Given the description of an element on the screen output the (x, y) to click on. 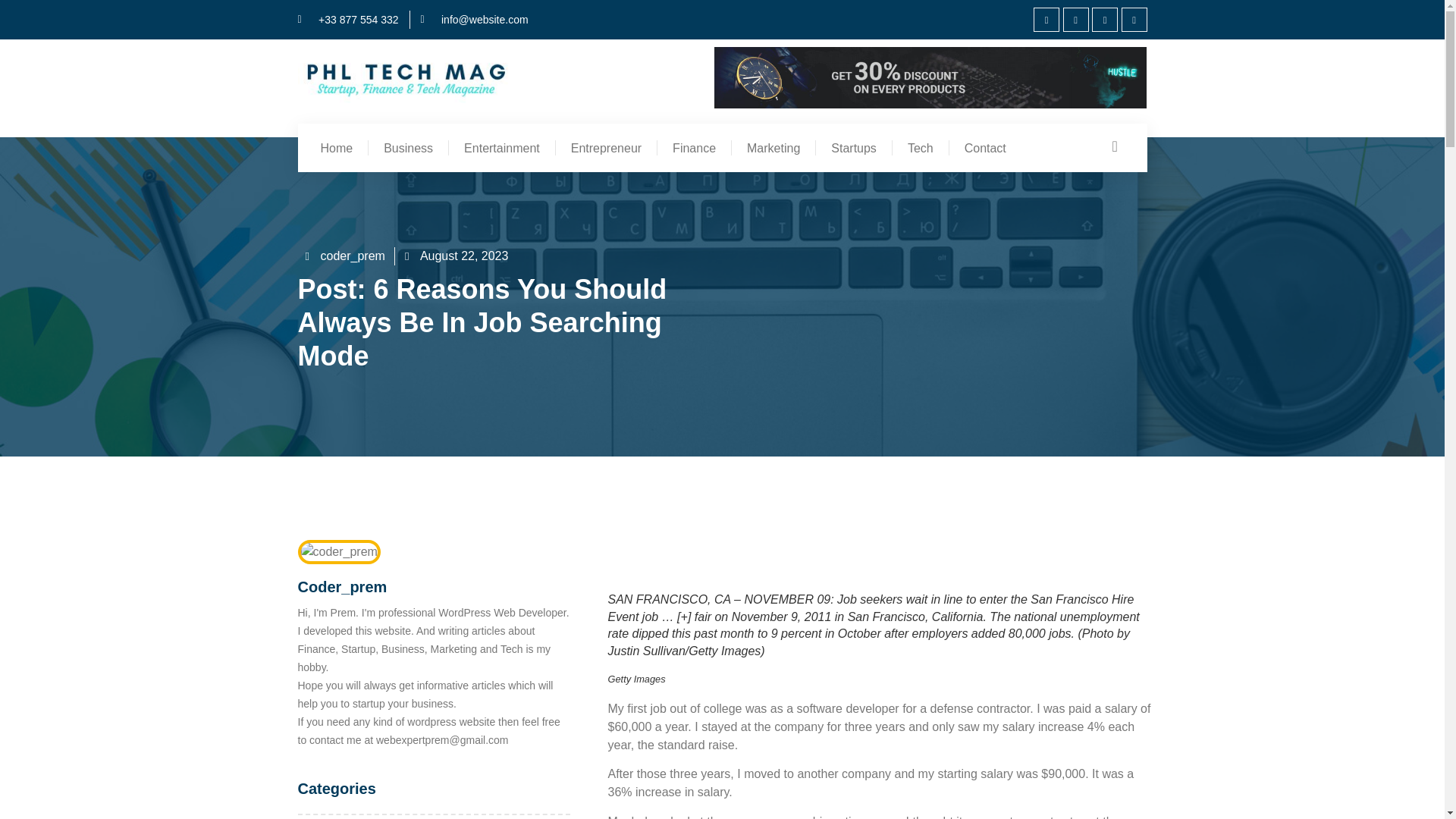
Contact (985, 147)
Entertainment (501, 147)
August 22, 2023 (456, 256)
Entrepreneur (606, 147)
Tech (920, 147)
Startups (853, 147)
Home (336, 147)
Business (408, 147)
Marketing (773, 147)
Finance (694, 147)
